Given the description of an element on the screen output the (x, y) to click on. 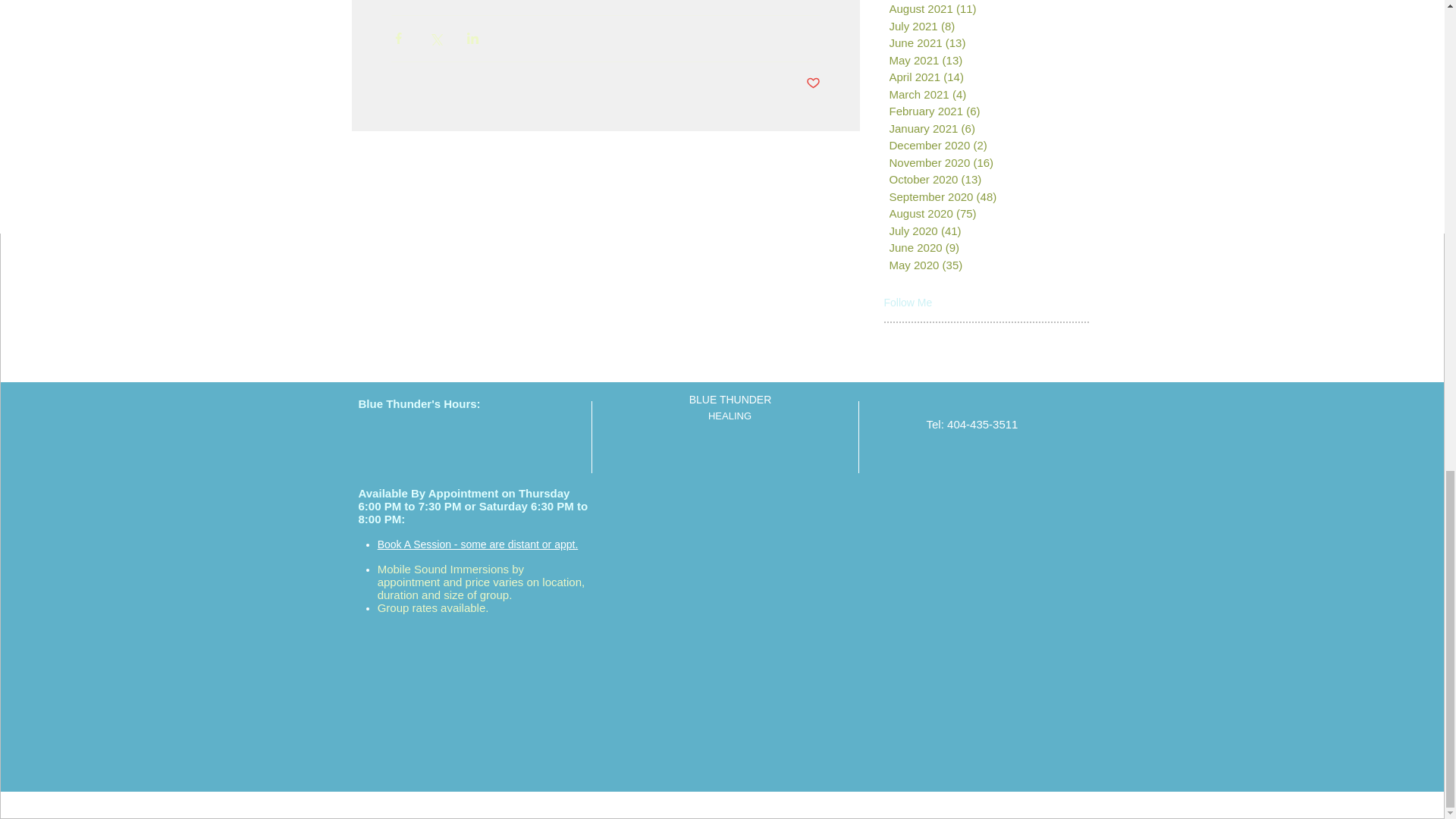
Post not marked as liked (812, 83)
